Given the description of an element on the screen output the (x, y) to click on. 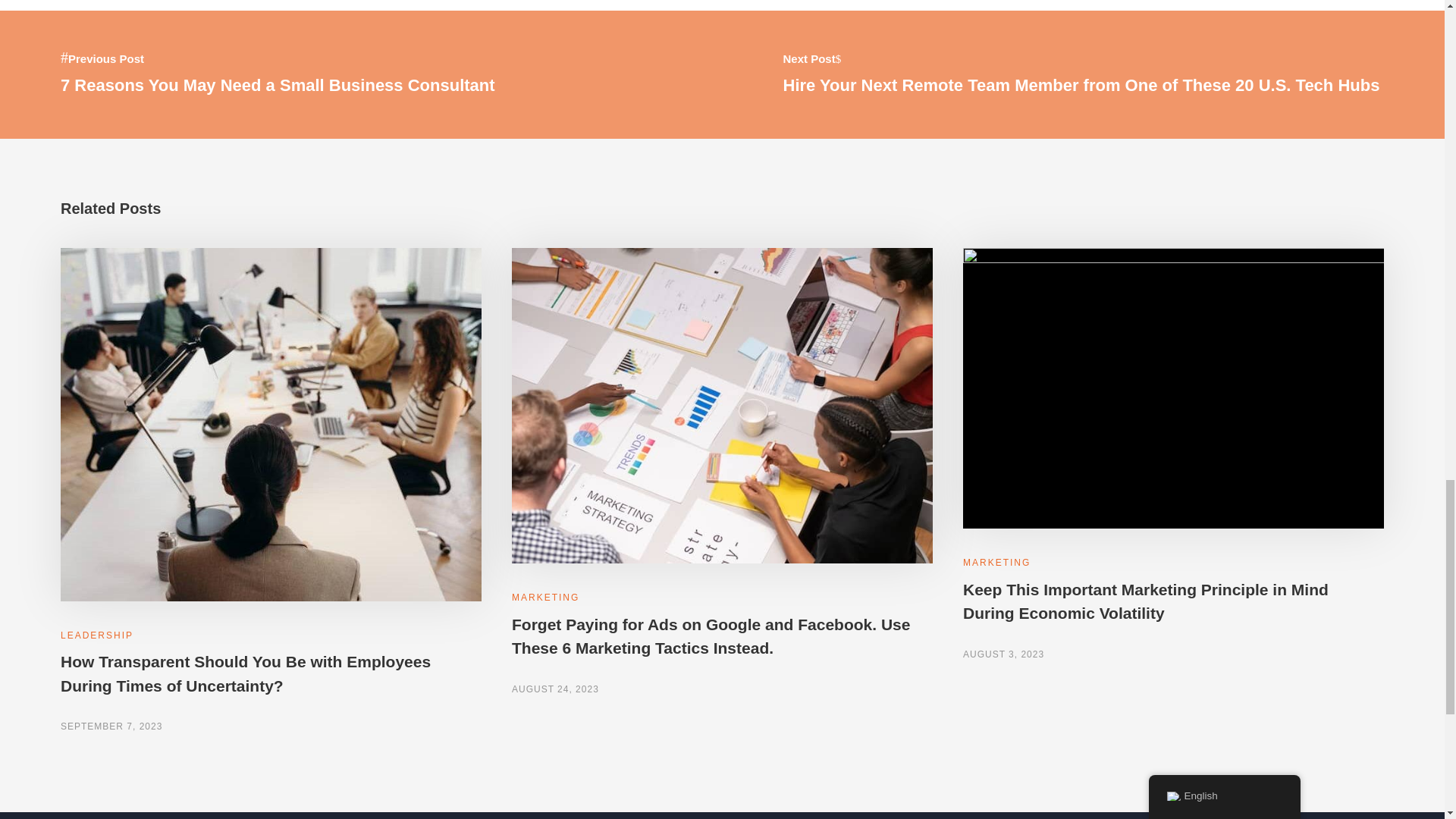
SEPTEMBER 7, 2023 (111, 726)
LEADERSHIP (97, 634)
